Given the description of an element on the screen output the (x, y) to click on. 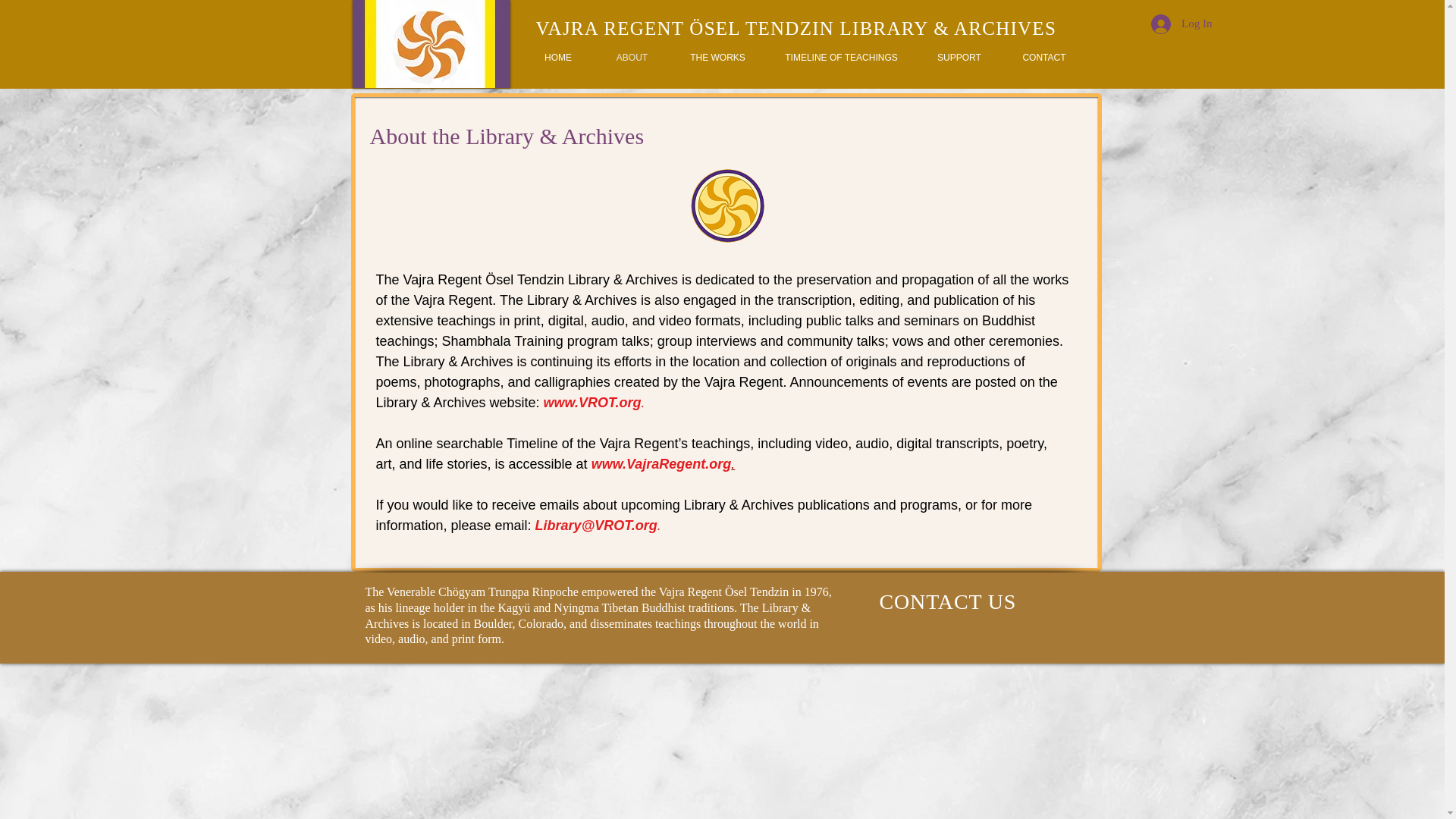
HOME (557, 57)
CONTACT (1043, 57)
Log In (1181, 23)
SUPPORT (959, 57)
ABOUT (631, 57)
THE WORKS (717, 57)
www.VajraRegent.org. (663, 463)
www.VROT.org. (594, 402)
TIMELINE OF TEACHINGS (841, 57)
CONTACT US (947, 601)
